Given the description of an element on the screen output the (x, y) to click on. 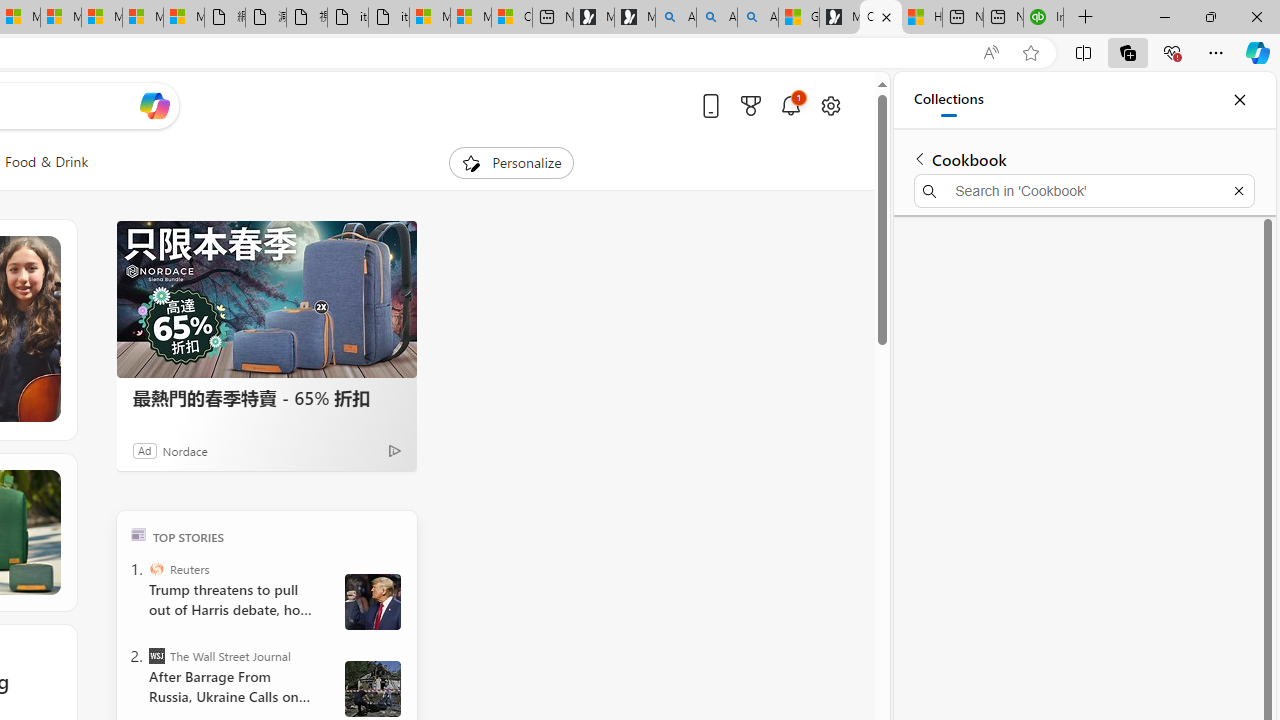
Search in 'Cookbook' (1084, 190)
TOP (138, 534)
